Given the description of an element on the screen output the (x, y) to click on. 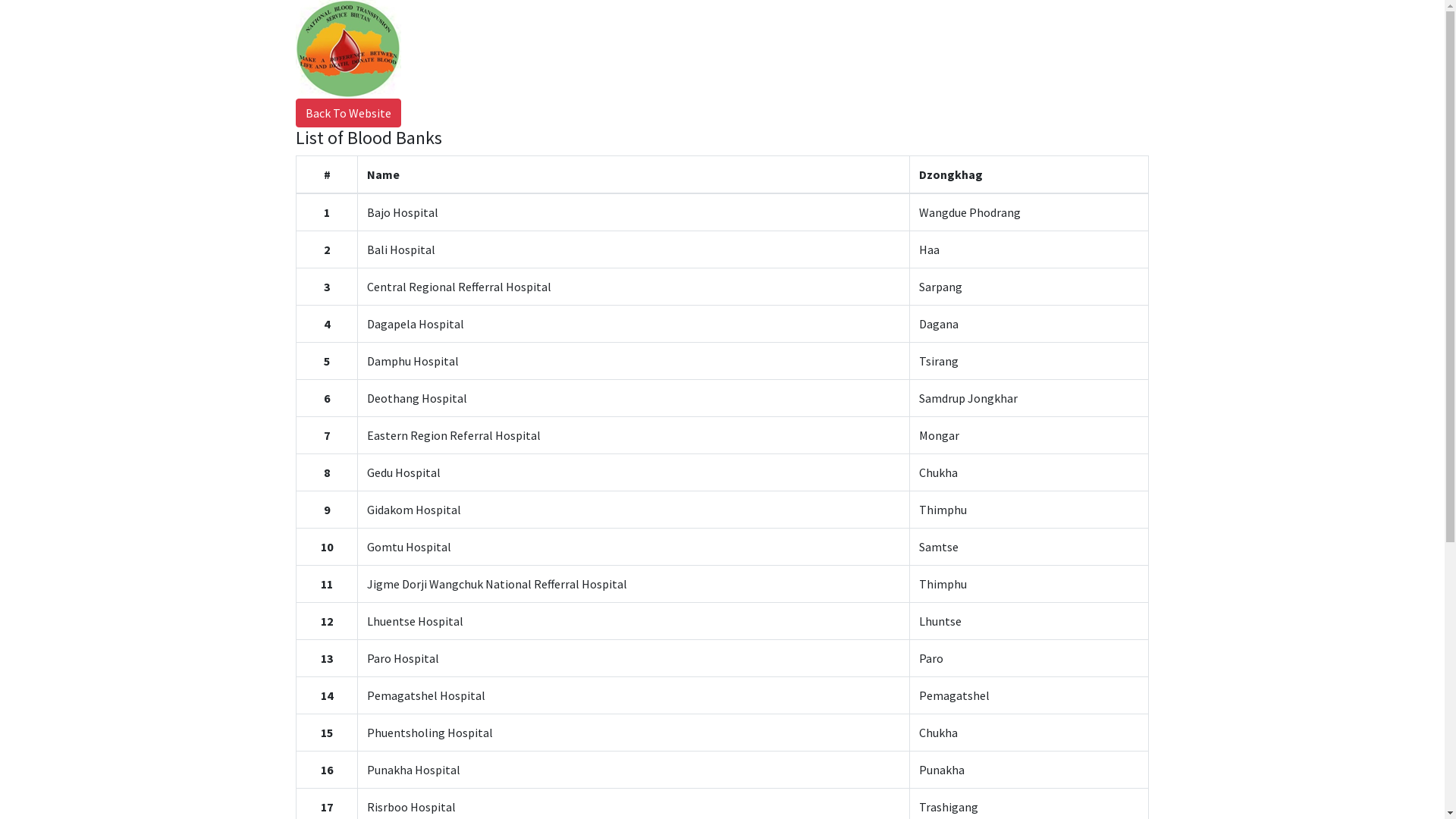
Back To Website Element type: text (348, 112)
